Given the description of an element on the screen output the (x, y) to click on. 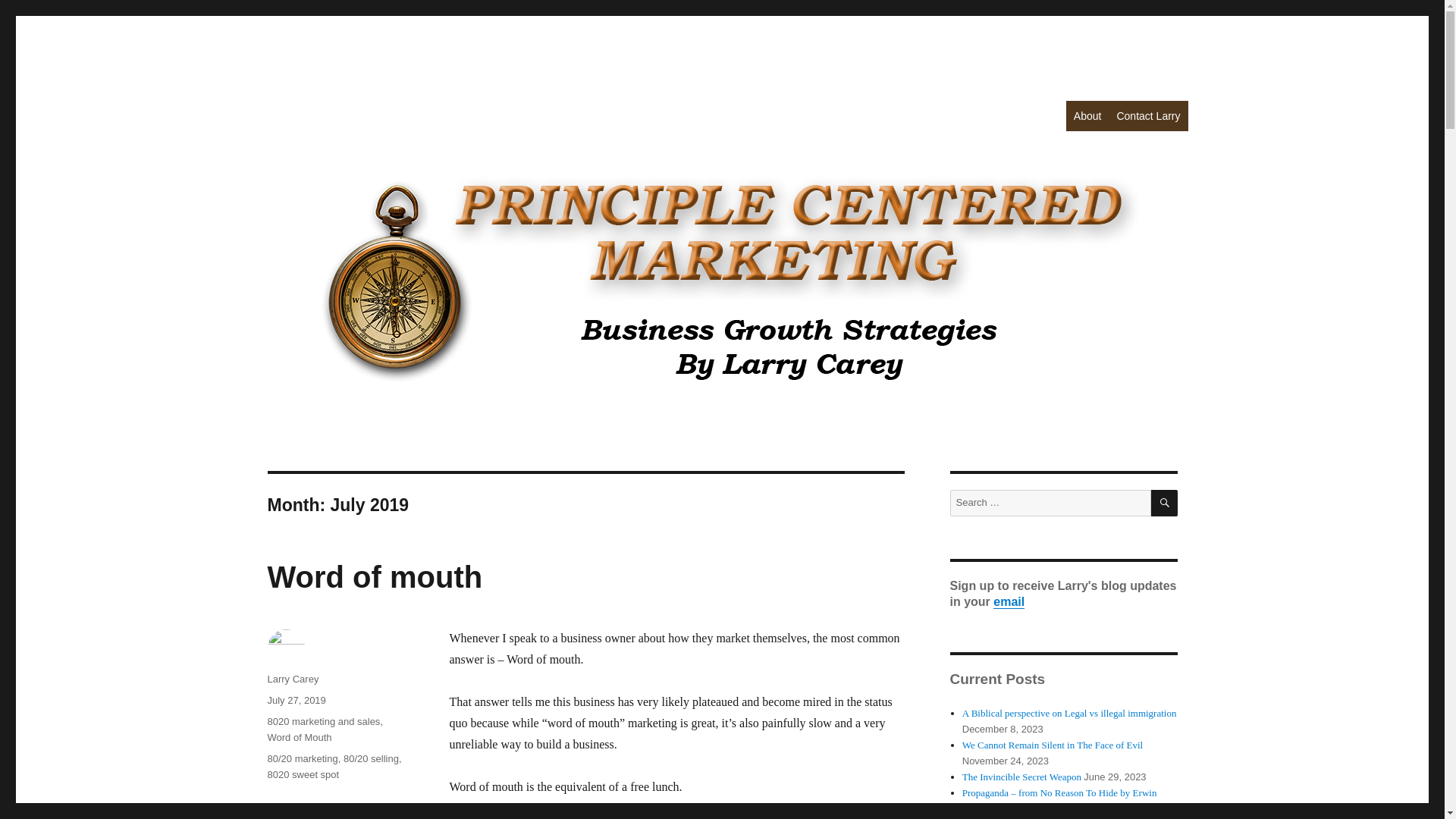
The Invincible Secret Weapon (1021, 776)
email (1008, 601)
A Biblical perspective on Legal vs illegal immigration (1069, 713)
Contact Larry (1148, 115)
About (1087, 115)
SEARCH (1164, 502)
Larry Carey (292, 678)
8020 marketing and sales (323, 721)
Word of Mouth (298, 737)
Search for: (1049, 502)
We Cannot Remain Silent in The Face of Evil (1052, 745)
Word of mouth (373, 576)
July 27, 2019 (295, 699)
8020 sweet spot (302, 774)
Principle Centered Marketing (413, 114)
